Given the description of an element on the screen output the (x, y) to click on. 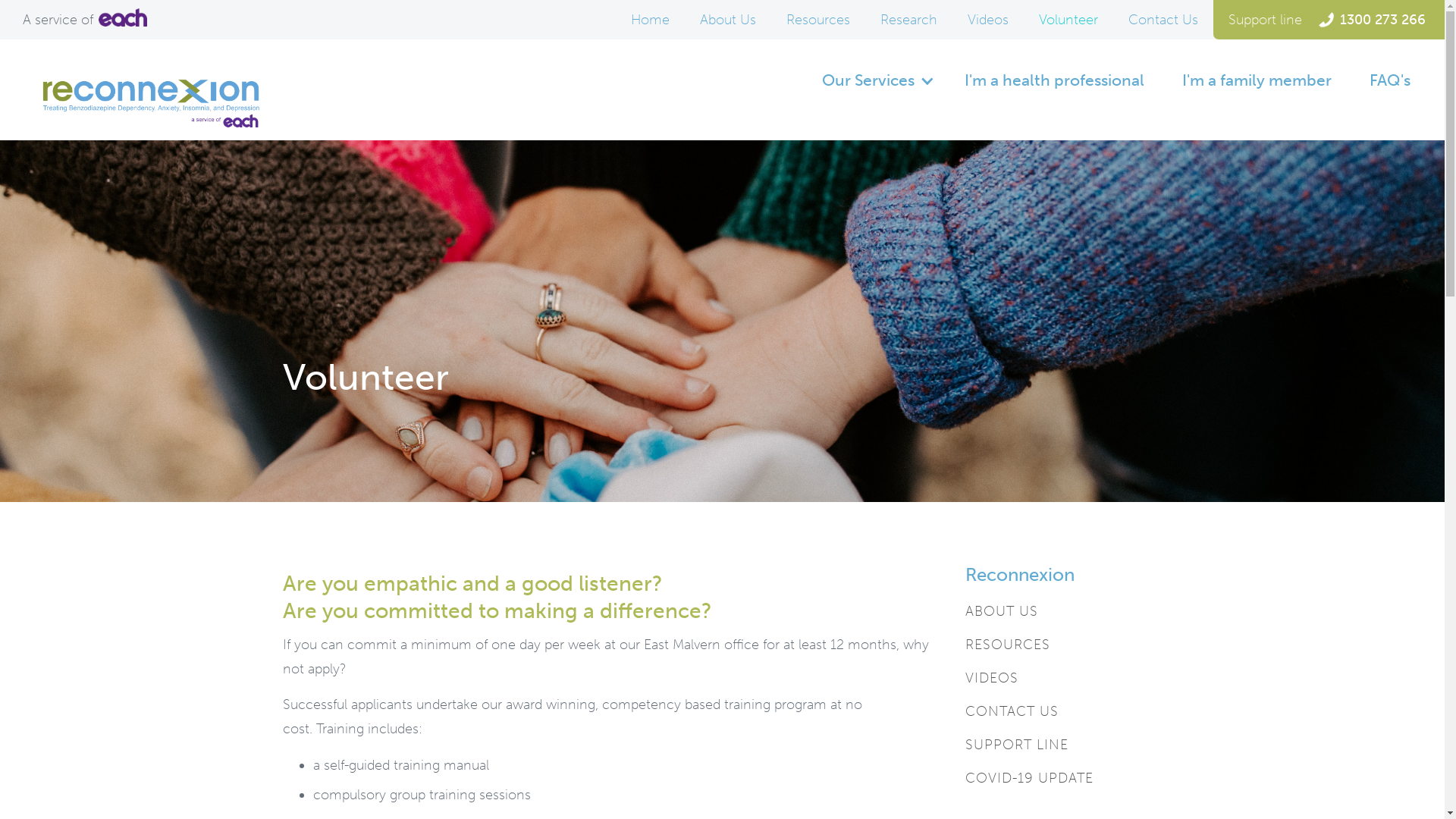
About Us Element type: text (727, 19)
CONTACT US Element type: text (1010, 710)
Contact Us Element type: text (1163, 19)
VIDEOS Element type: text (990, 677)
COVID-19 UPDATE Element type: text (1028, 777)
1300 273 266 Element type: text (1376, 19)
I'm a family member Element type: text (1256, 79)
A service of Element type: text (80, 19)
Resources Element type: text (818, 19)
Support line Element type: text (1261, 19)
ABOUT US Element type: text (1000, 610)
FAQ's Element type: text (1389, 79)
SUPPORT LINE Element type: text (1015, 744)
Home Element type: text (649, 19)
RESOURCES Element type: text (1006, 644)
Research Element type: text (908, 19)
I'm a health professional Element type: text (1054, 79)
Videos Element type: text (987, 19)
Volunteer Element type: text (1068, 19)
